Given the description of an element on the screen output the (x, y) to click on. 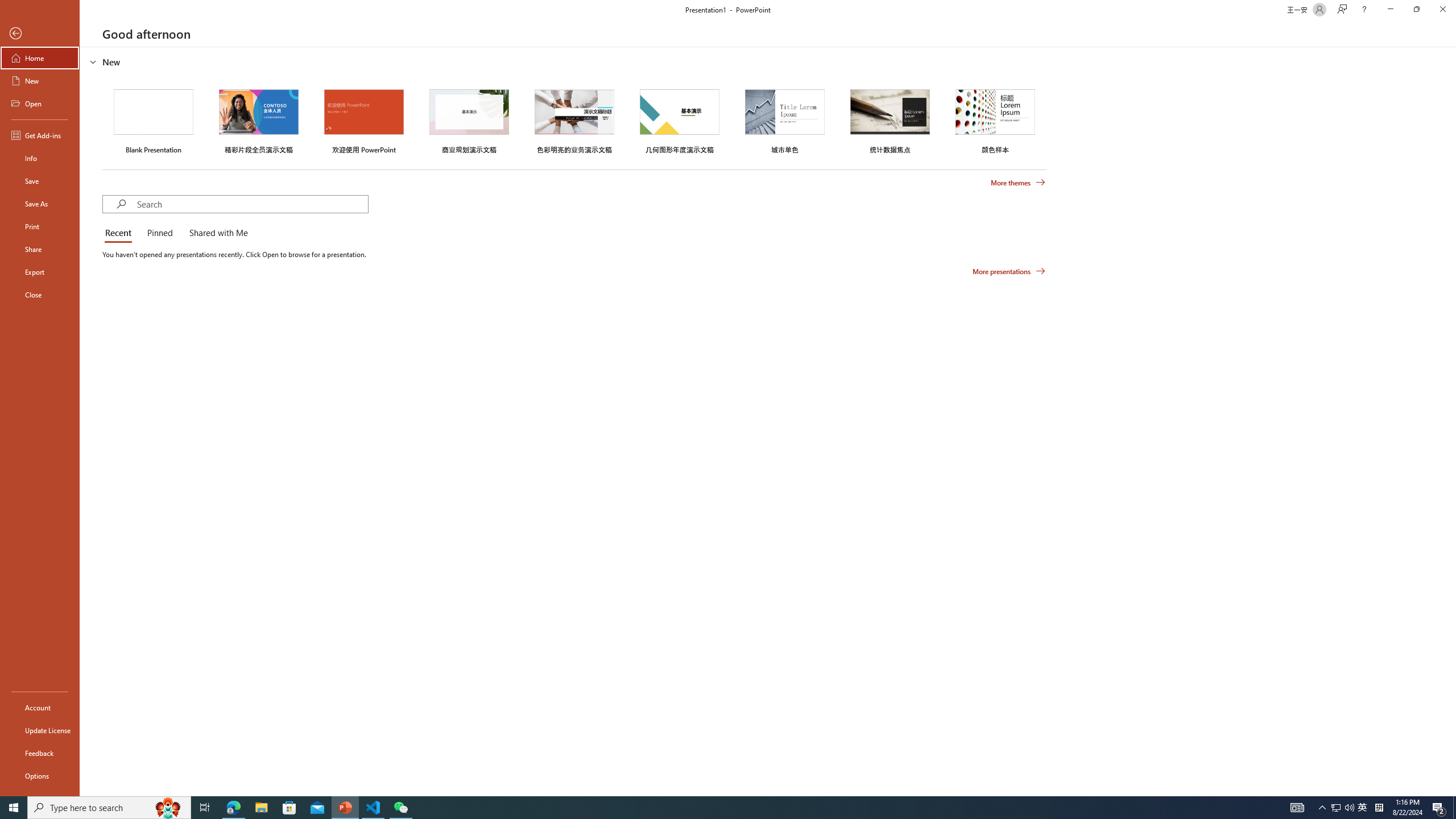
New (40, 80)
Recent (119, 233)
Options (40, 775)
Account (40, 707)
Class: NetUIScrollBar (1450, 421)
Save As (40, 203)
